Given the description of an element on the screen output the (x, y) to click on. 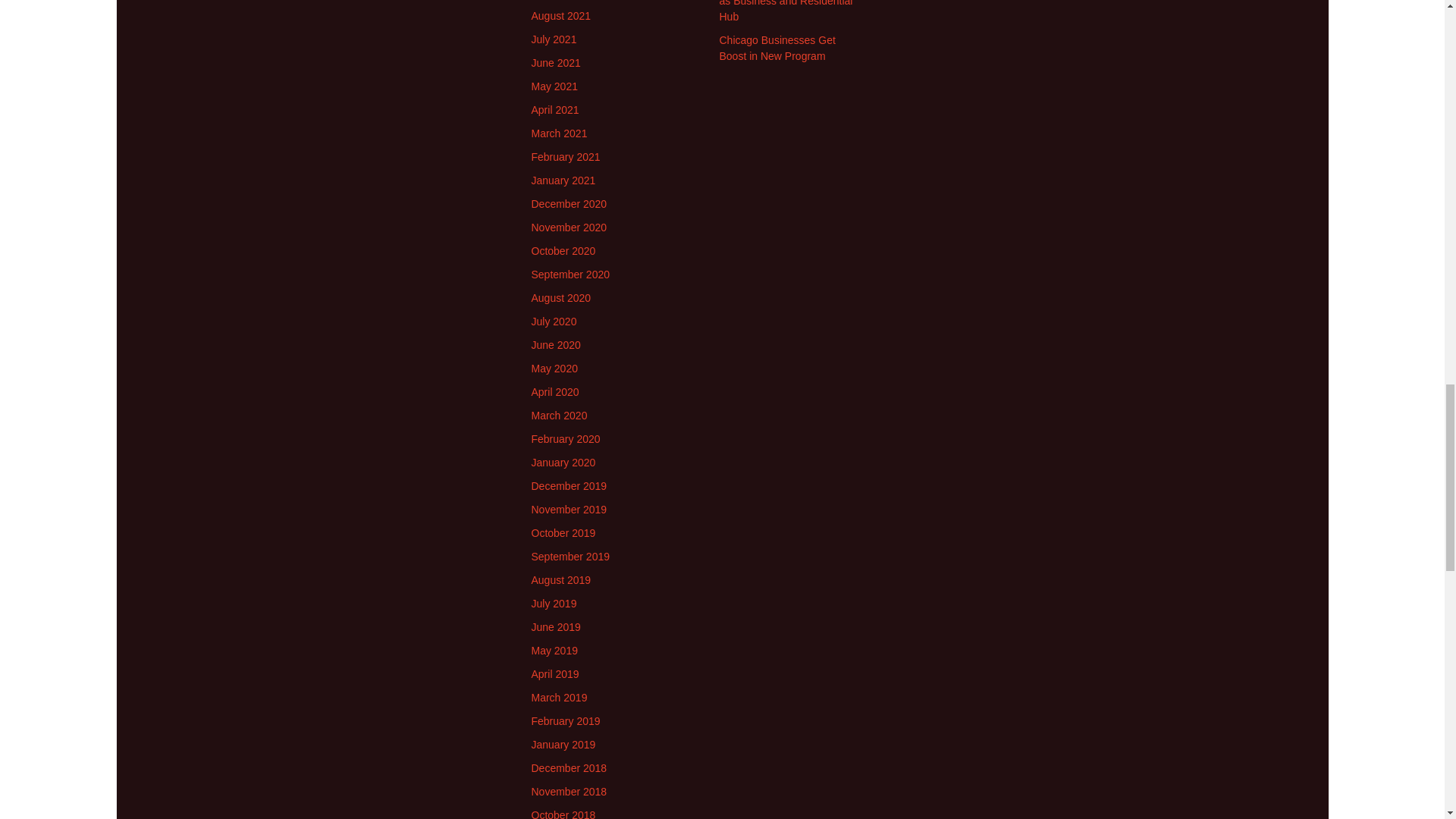
May 2021 (553, 86)
Purple Hotel to Get New Life as Business and Residential Hub (786, 11)
June 2021 (555, 62)
August 2021 (561, 15)
April 2021 (554, 110)
July 2021 (553, 39)
Chicago Businesses Get Boost in New Program (776, 48)
